Given the description of an element on the screen output the (x, y) to click on. 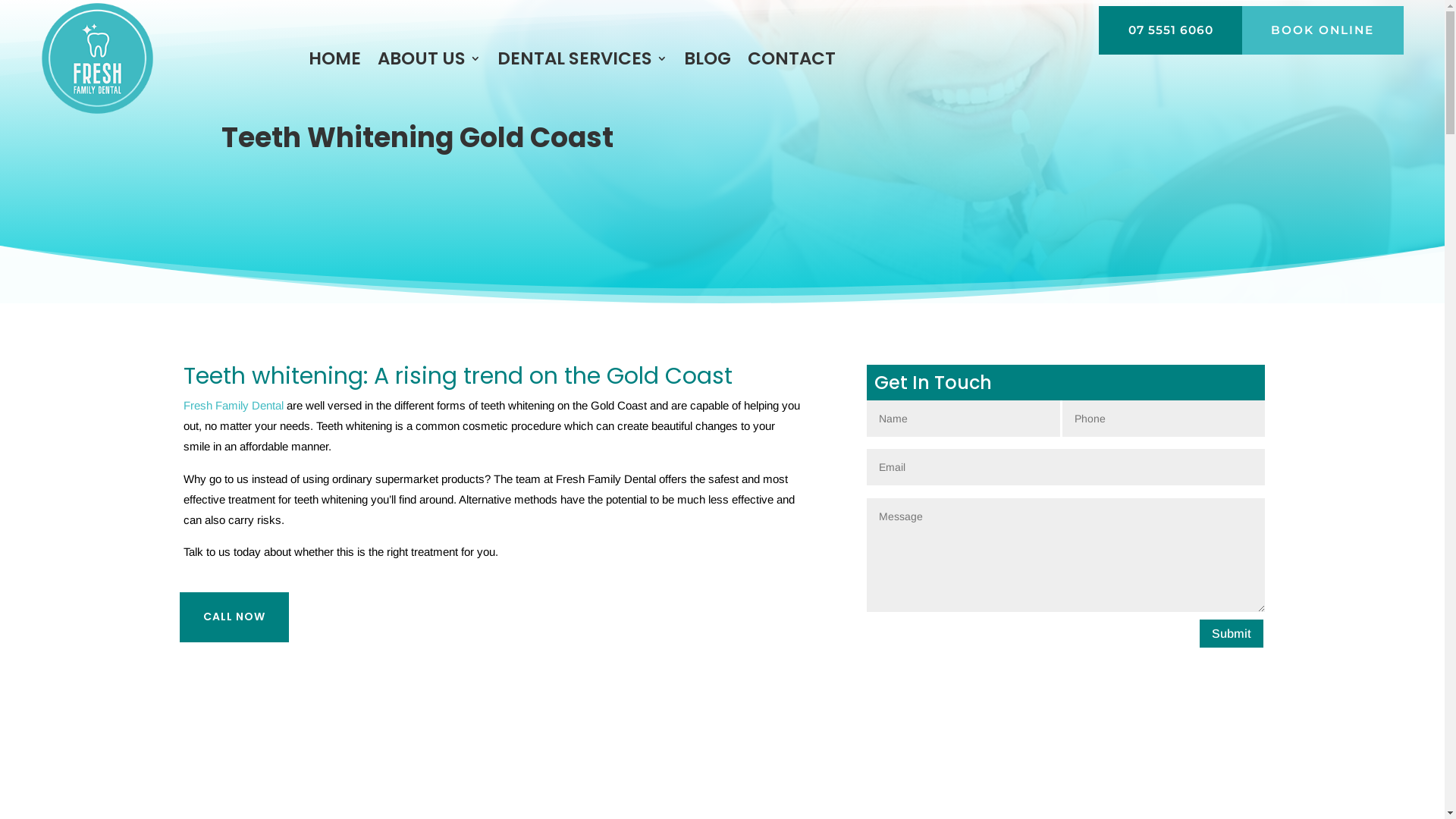
Minimum length: 8 characters. Maximum length: 11 characters. Element type: hover (1163, 418)
07 5551 6060 Element type: text (1170, 30)
Fresh Family Dental Element type: text (233, 404)
Submit Element type: text (1231, 633)
CALL NOW Element type: text (233, 617)
BOOK ONLINE Element type: text (1322, 30)
